Given the description of an element on the screen output the (x, y) to click on. 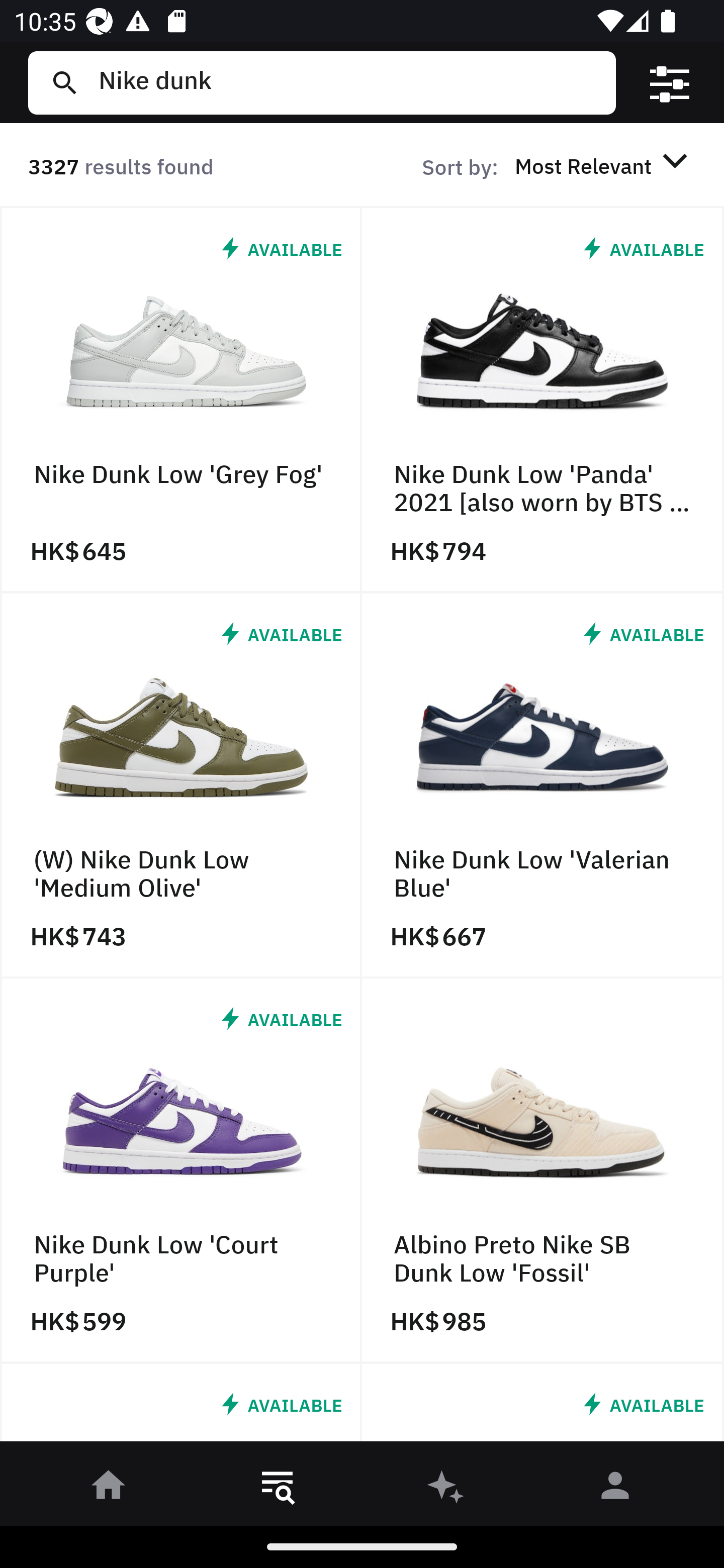
Nike dunk (349, 82)
 (669, 82)
Most Relevant  (604, 165)
 AVAILABLE Nike Dunk Low 'Grey Fog' HK$ 645 (181, 399)
 AVAILABLE Nike Dunk Low 'Valerian Blue' HK$ 667 (543, 785)
 AVAILABLE Nike Dunk Low 'Court Purple' HK$ 599 (181, 1171)
Albino Preto Nike SB Dunk Low 'Fossil' HK$ 985 (543, 1171)
󰋜 (108, 1488)
󱎸 (277, 1488)
󰫢 (446, 1488)
󰀄 (615, 1488)
